Given the description of an element on the screen output the (x, y) to click on. 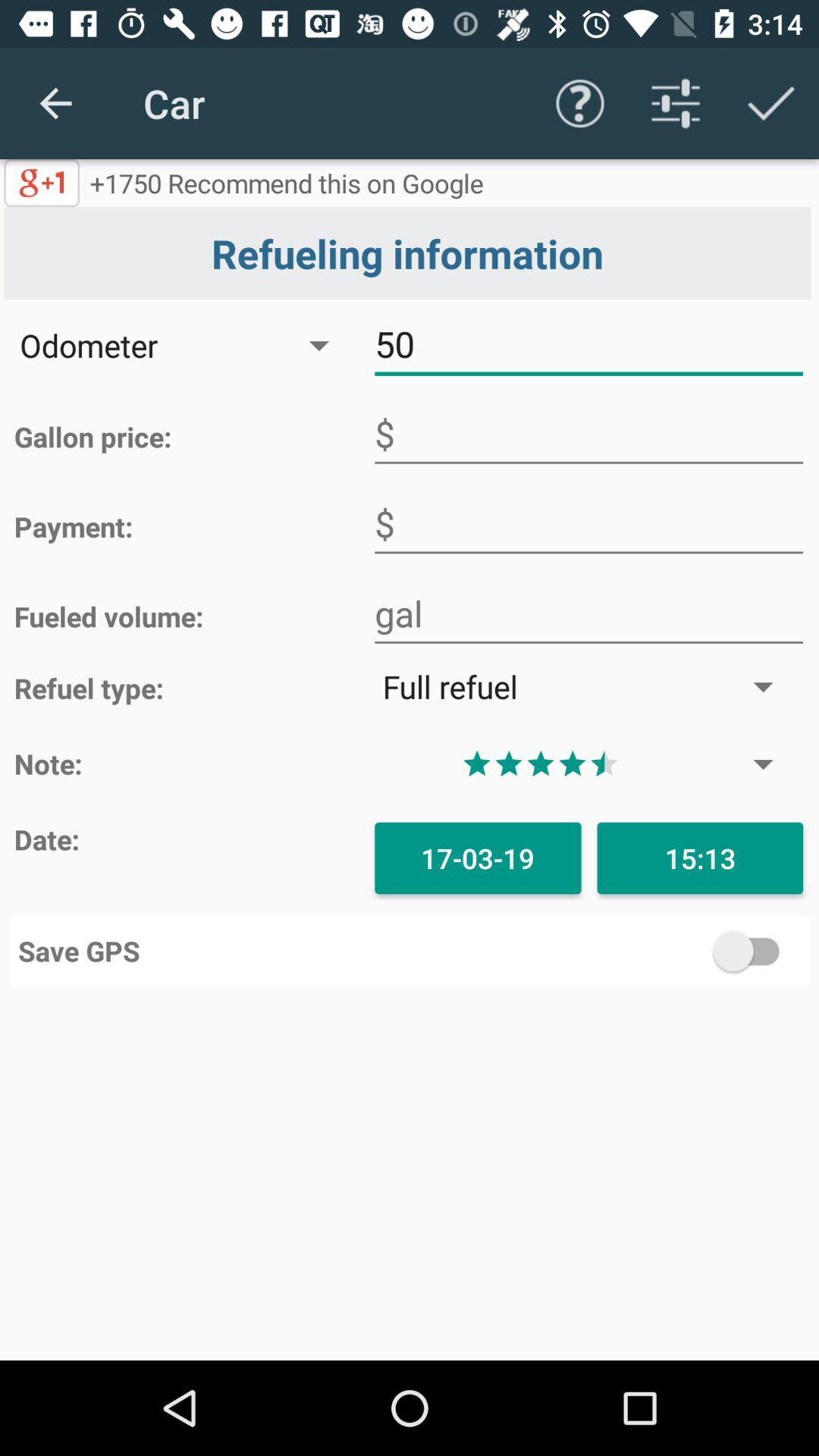
click item next to the car app (55, 103)
